Given the description of an element on the screen output the (x, y) to click on. 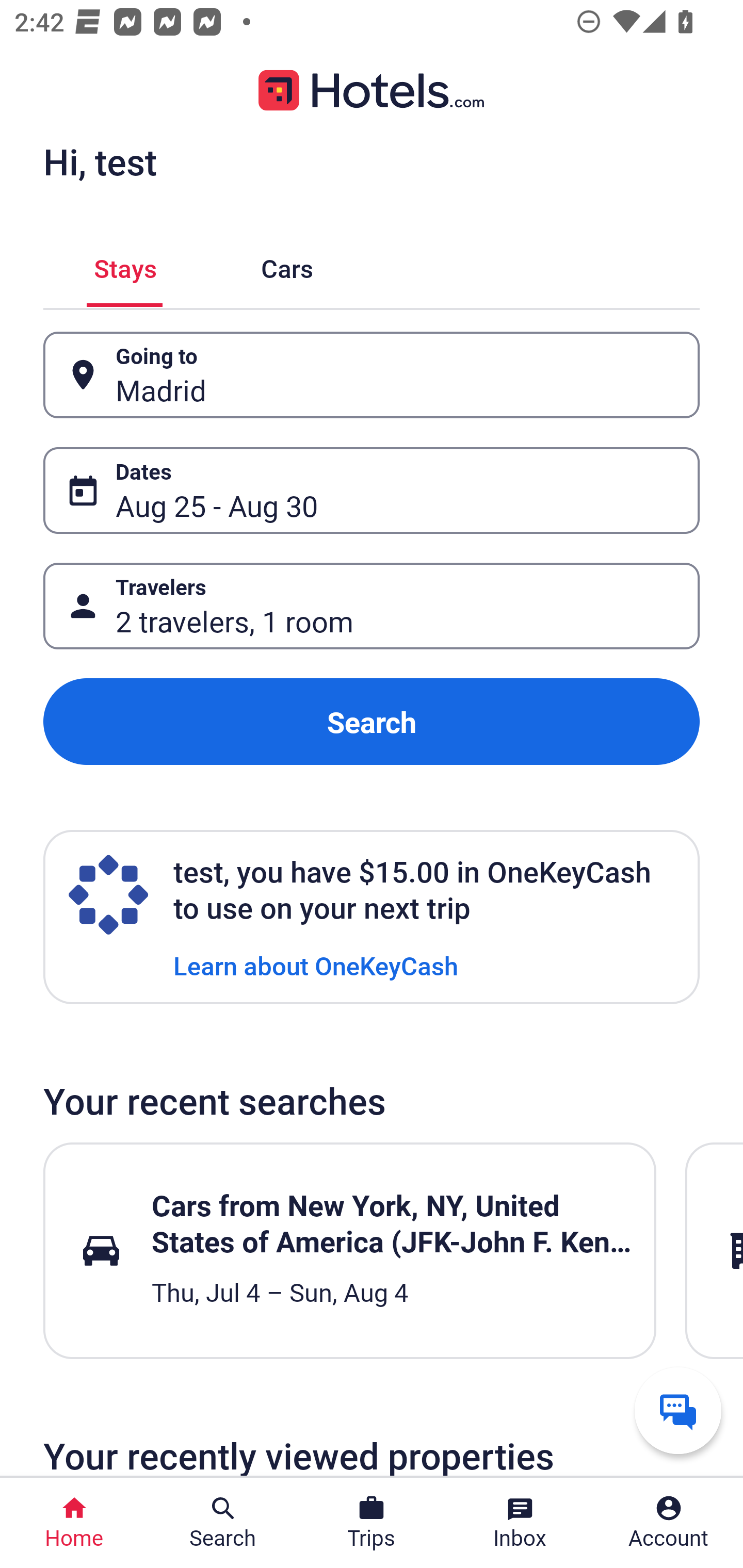
Hi, test (99, 161)
Cars (286, 265)
Going to Button Madrid (371, 375)
Dates Button Aug 25 - Aug 30 (371, 489)
Travelers Button 2 travelers, 1 room (371, 605)
Search (371, 721)
Learn about OneKeyCash Learn about OneKeyCash Link (315, 964)
Get help from a virtual agent (677, 1410)
Search Search Button (222, 1522)
Trips Trips Button (371, 1522)
Inbox Inbox Button (519, 1522)
Account Profile. Button (668, 1522)
